Given the description of an element on the screen output the (x, y) to click on. 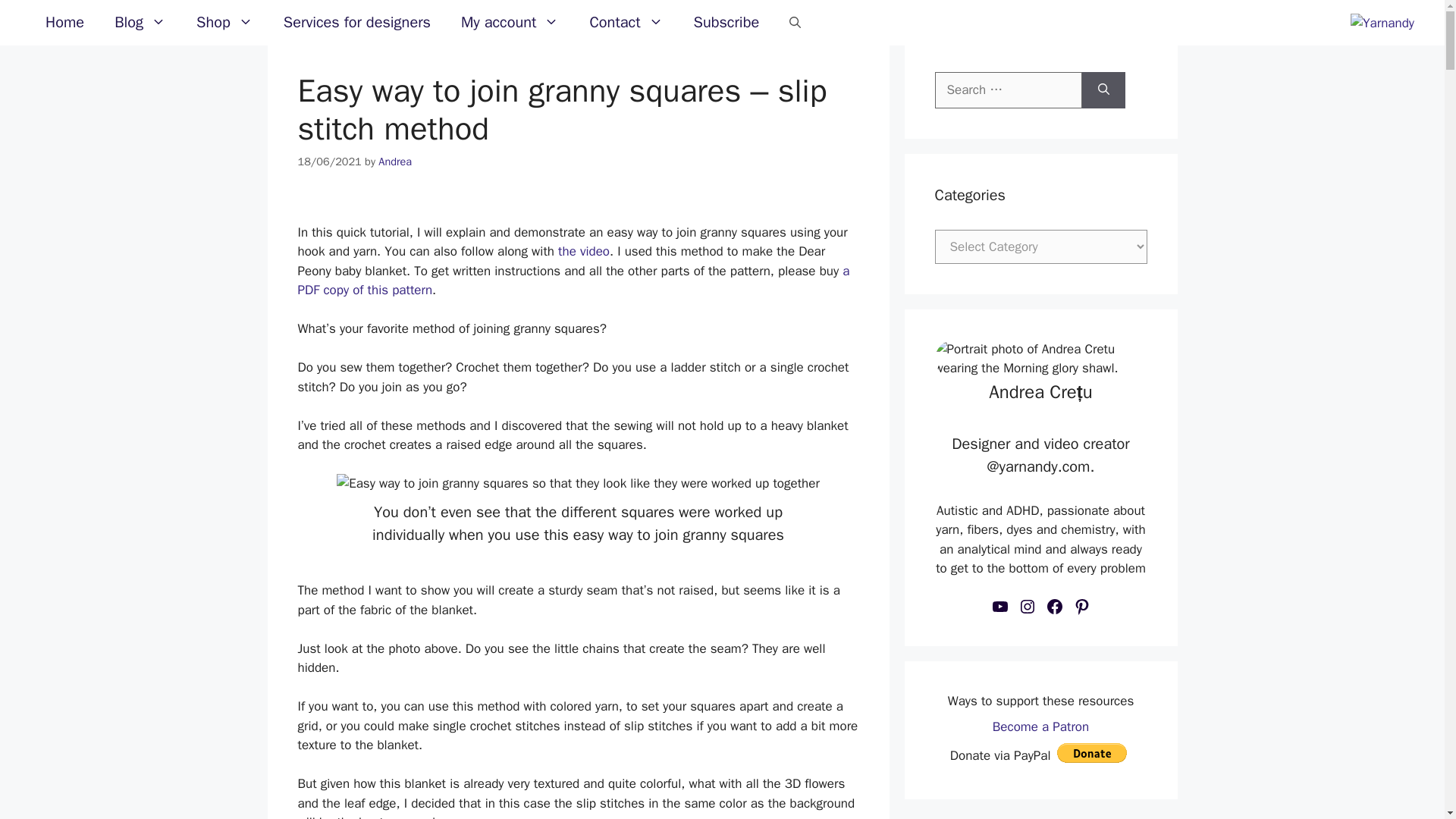
Home (64, 22)
Subscribe (726, 22)
View all posts by Andrea (395, 161)
a PDF copy of this pattern (572, 280)
the video (583, 251)
Services for designers (356, 22)
My account (509, 22)
Blog (139, 22)
Contact (625, 22)
Shop (223, 22)
